Given the description of an element on the screen output the (x, y) to click on. 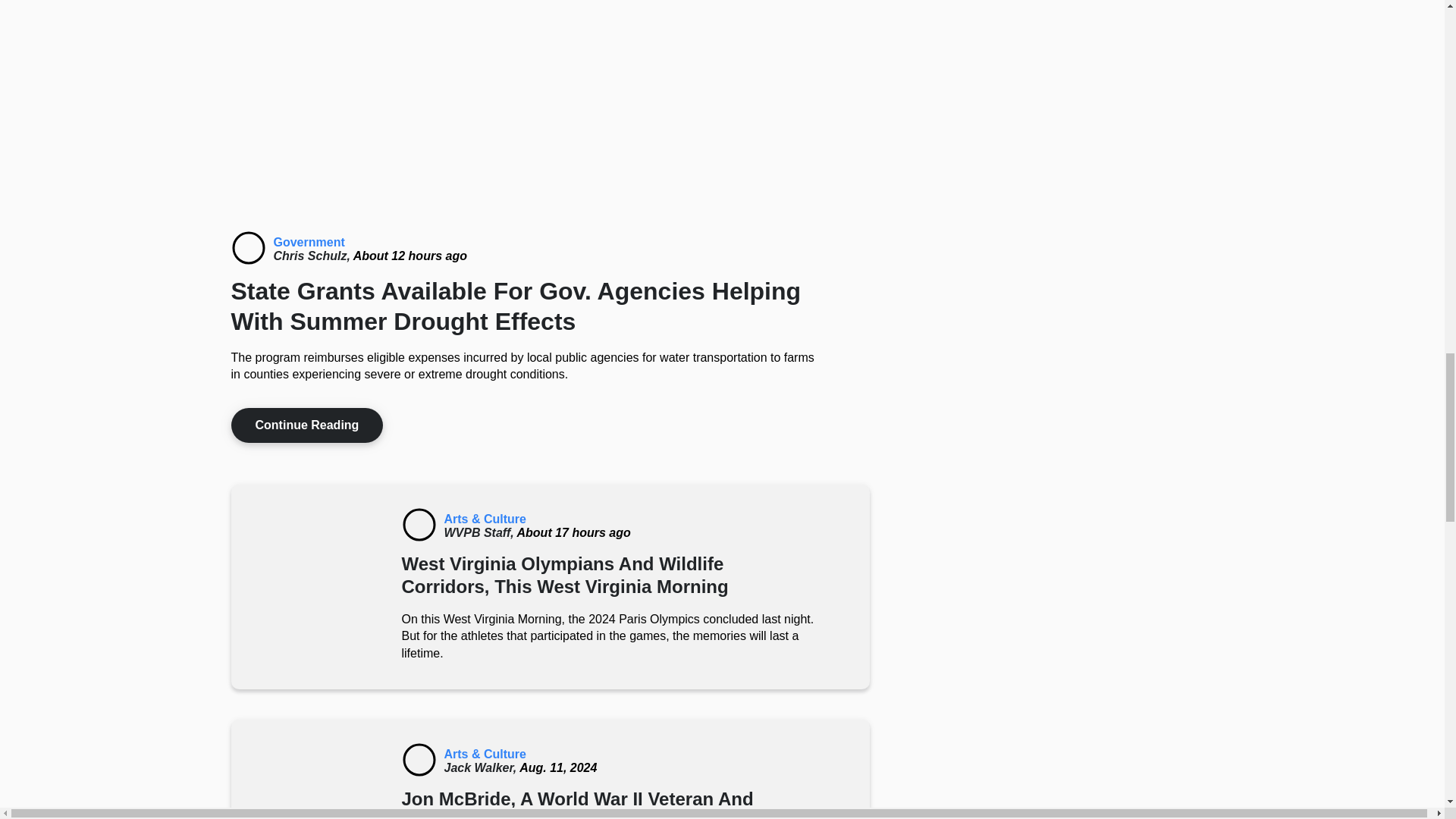
WVPB Staff (480, 532)
Chris Schulz (312, 255)
